Given the description of an element on the screen output the (x, y) to click on. 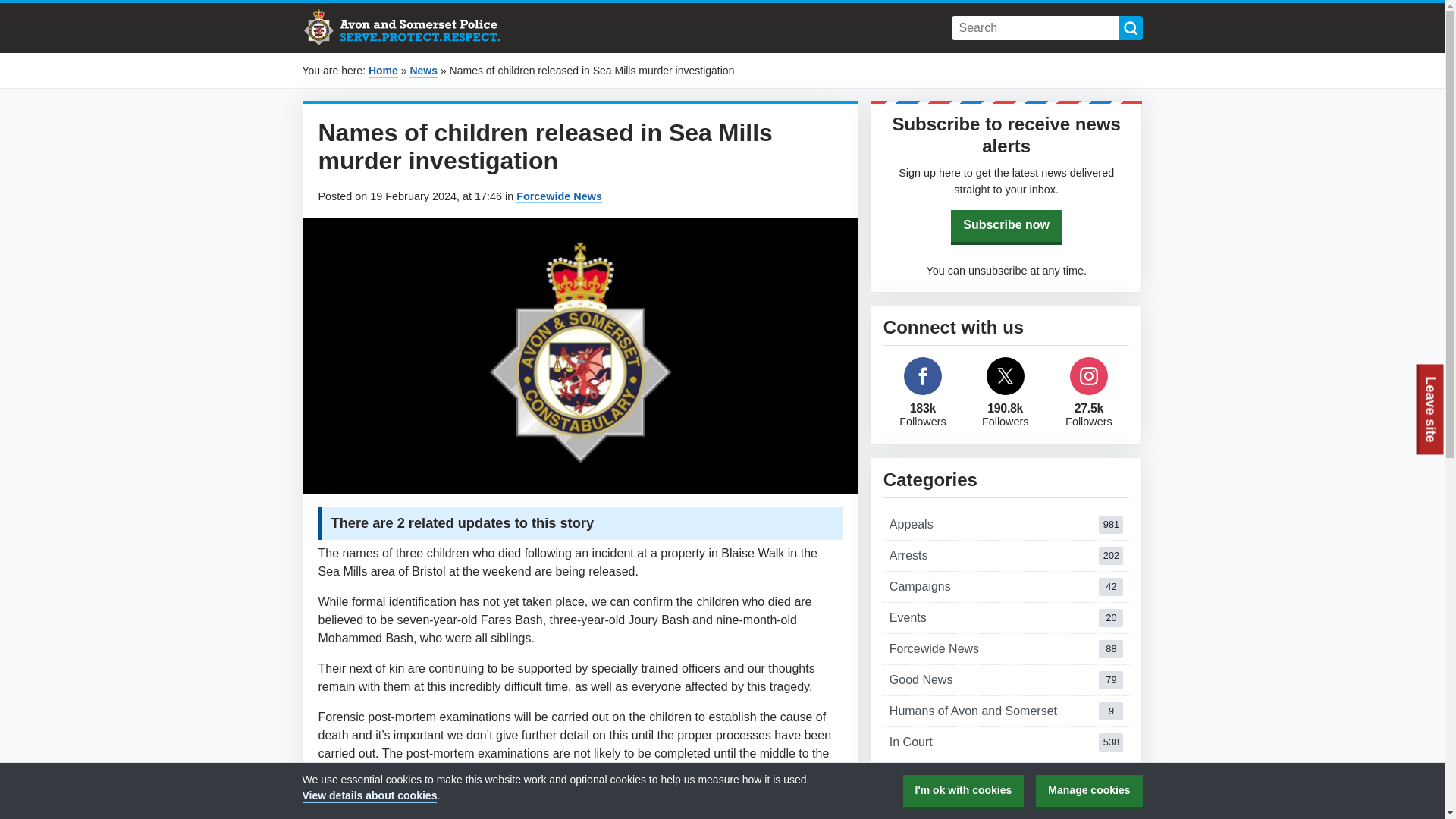
Home (382, 70)
Search (1006, 680)
Facebook (1006, 648)
I'm ok with cookies (1006, 524)
Manage cookies (1129, 27)
Subscribe now (1006, 555)
View details about cookies (923, 375)
